Given the description of an element on the screen output the (x, y) to click on. 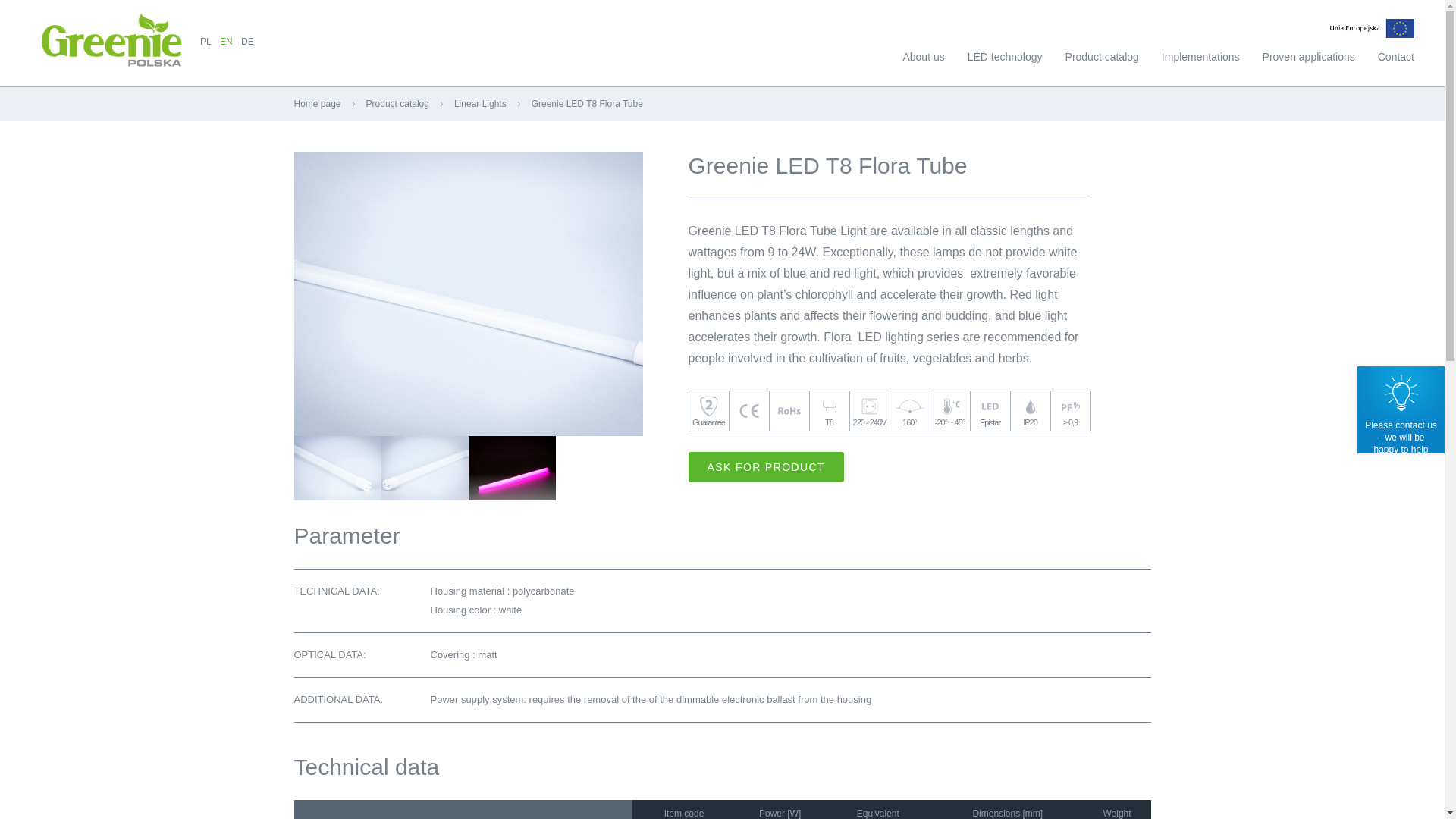
DE (247, 41)
EN (225, 41)
Product catalog (397, 103)
ASK FOR PRODUCT (766, 467)
Home page (317, 103)
Product catalog (397, 103)
Proven applications (1308, 58)
Greenie World (88, 30)
Home page (317, 103)
Linear Lights (480, 103)
Implementations (1200, 58)
Linear Lights (480, 103)
LED lighting producer Greenie (88, 30)
PL (205, 41)
